Given the description of an element on the screen output the (x, y) to click on. 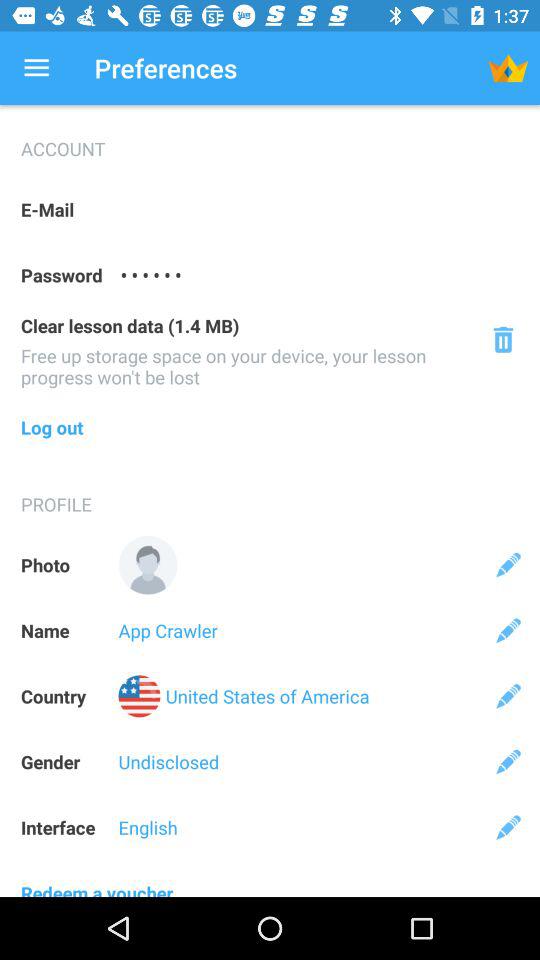
turn on the account (270, 141)
